Given the description of an element on the screen output the (x, y) to click on. 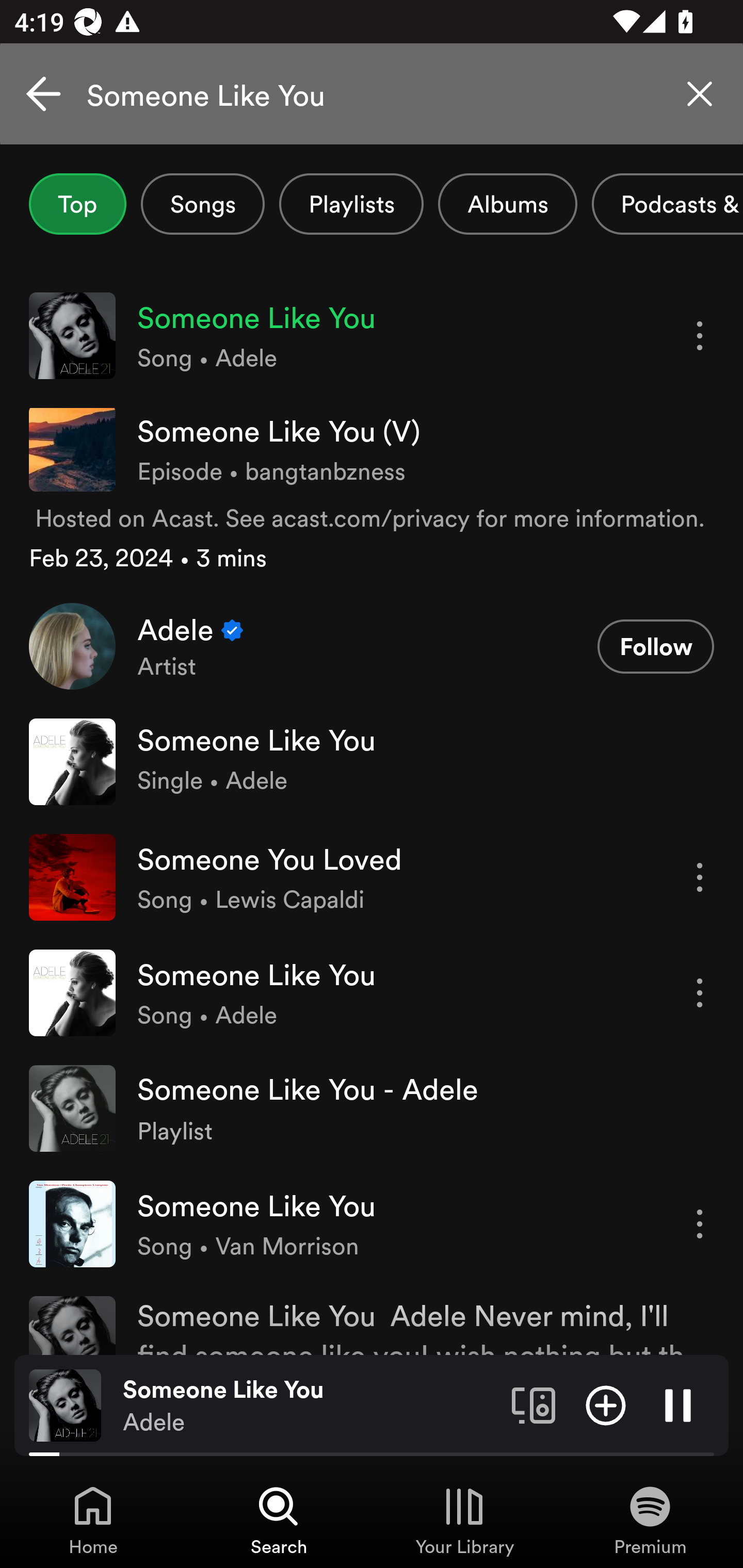
Someone Like You (371, 93)
Cancel (43, 93)
Clear search query (699, 93)
Top (77, 203)
Songs (202, 203)
Playlists (351, 203)
Albums (507, 203)
Podcasts & Shows (667, 203)
More options for song Someone Like You (699, 336)
Adele Verified Artist Follow Follow (371, 646)
Follow (655, 646)
Someone Like You Single • Adele (371, 762)
More options for song Someone You Loved (699, 877)
More options for song Someone Like You (699, 993)
Someone Like You - Adele Playlist (371, 1108)
More options for song Someone Like You (699, 1223)
Someone Like You Adele (309, 1405)
The cover art of the currently playing track (64, 1404)
Connect to a device. Opens the devices menu (533, 1404)
Add item (605, 1404)
Pause (677, 1404)
Home, Tab 1 of 4 Home Home (92, 1519)
Search, Tab 2 of 4 Search Search (278, 1519)
Your Library, Tab 3 of 4 Your Library Your Library (464, 1519)
Premium, Tab 4 of 4 Premium Premium (650, 1519)
